Given the description of an element on the screen output the (x, y) to click on. 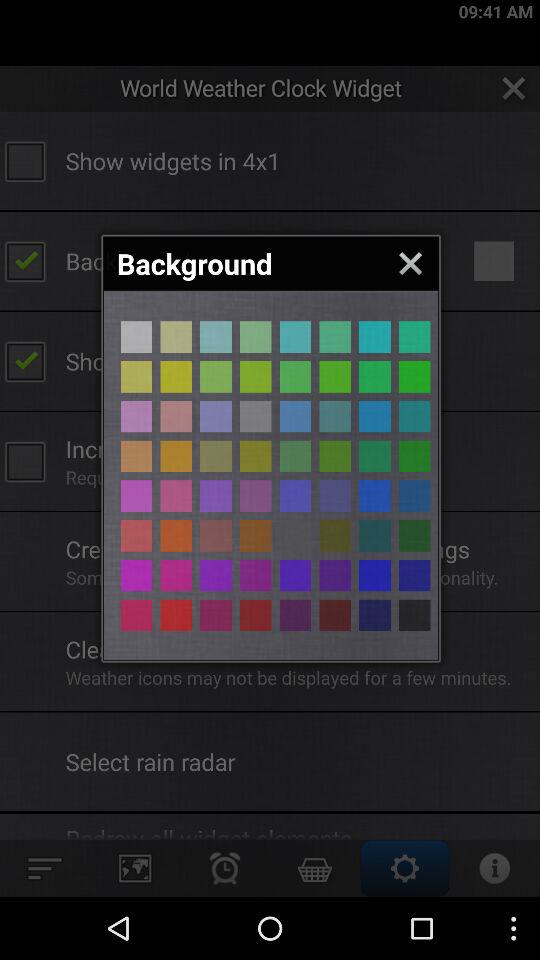
coloring page (414, 495)
